Given the description of an element on the screen output the (x, y) to click on. 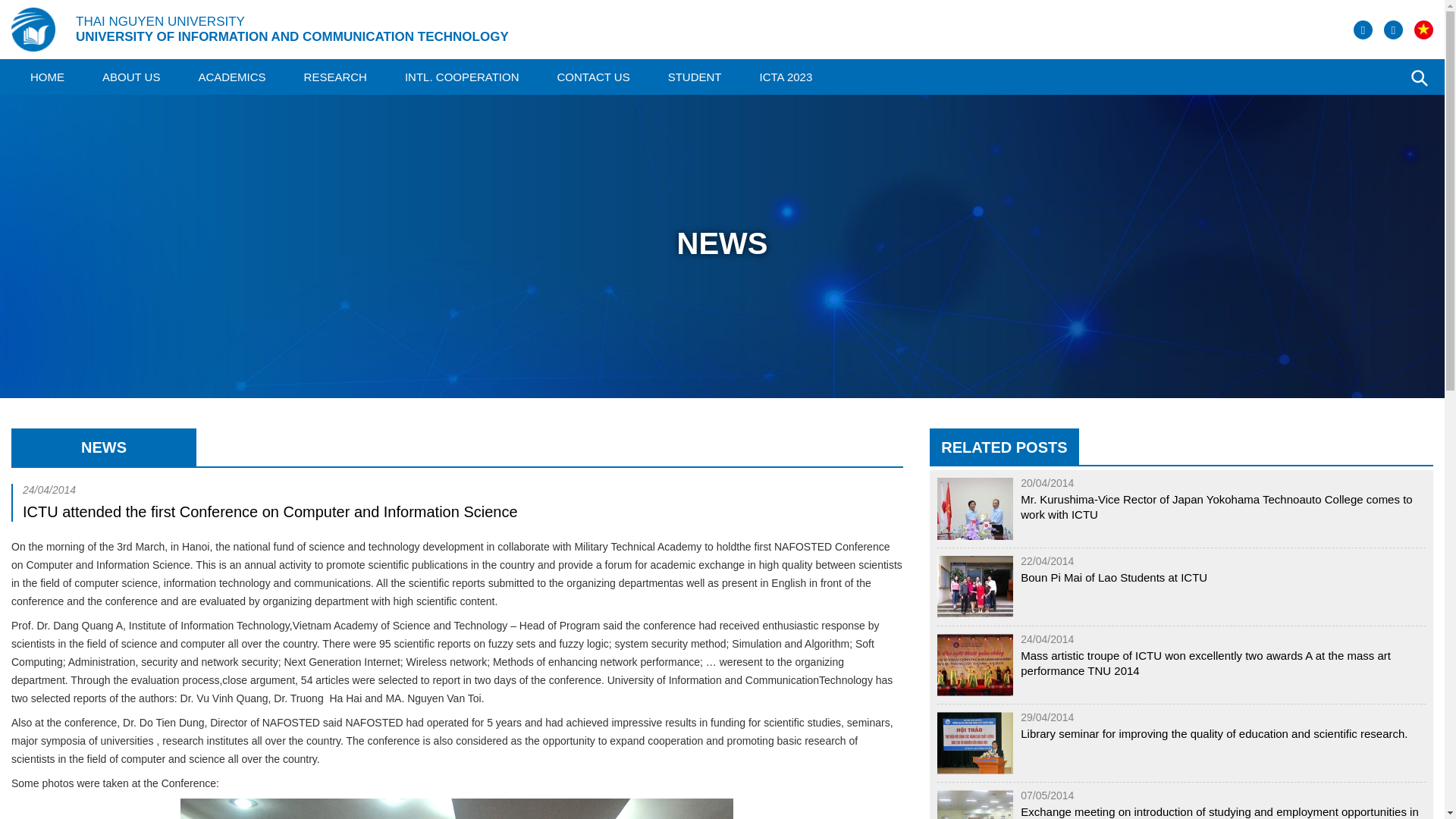
CONTACT US (593, 76)
ACADEMICS (231, 76)
INTL. COOPERATION (461, 76)
Boun Pi Mai of Lao Students at ICTU (1113, 577)
ABOUT US (130, 76)
STUDENT (695, 76)
